Given the description of an element on the screen output the (x, y) to click on. 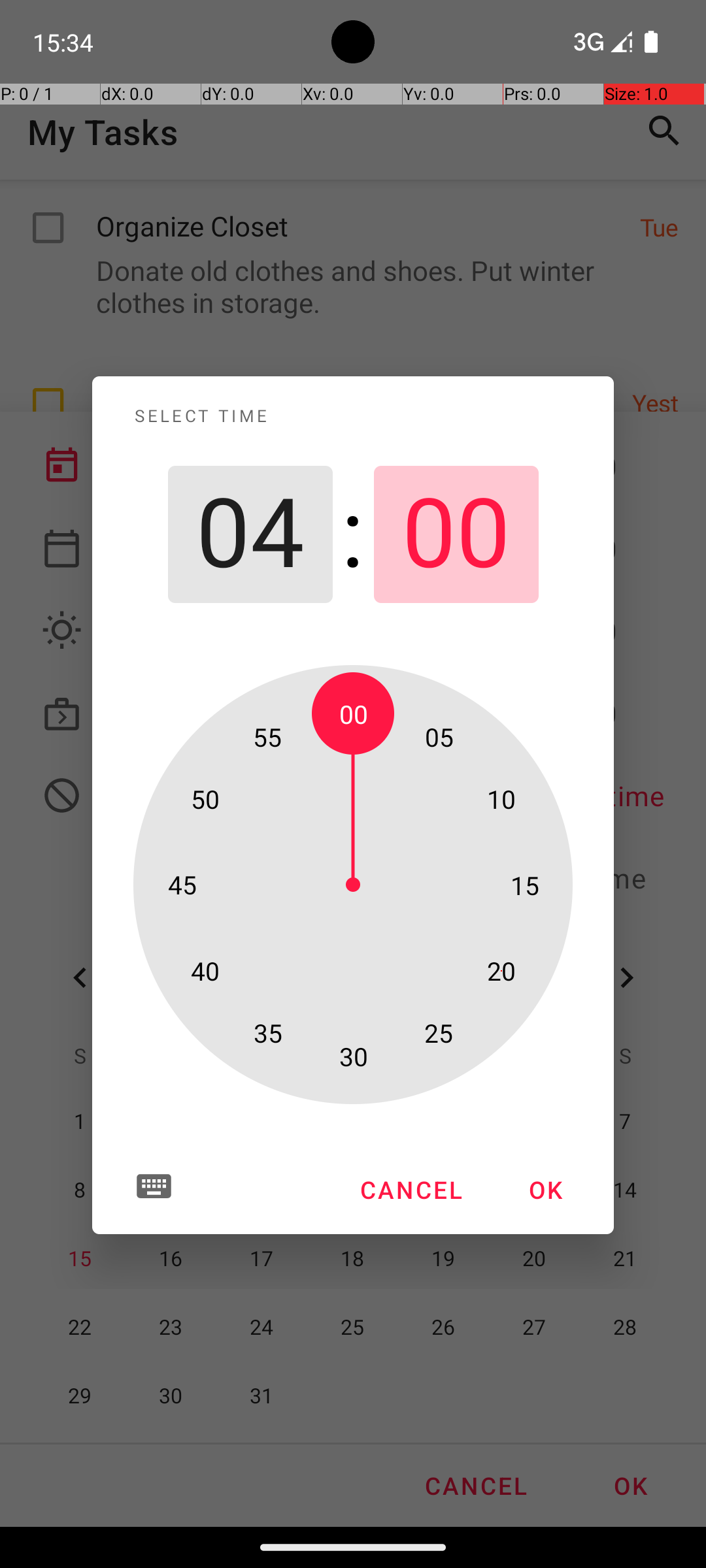
04 Element type: android.view.View (250, 534)
